Given the description of an element on the screen output the (x, y) to click on. 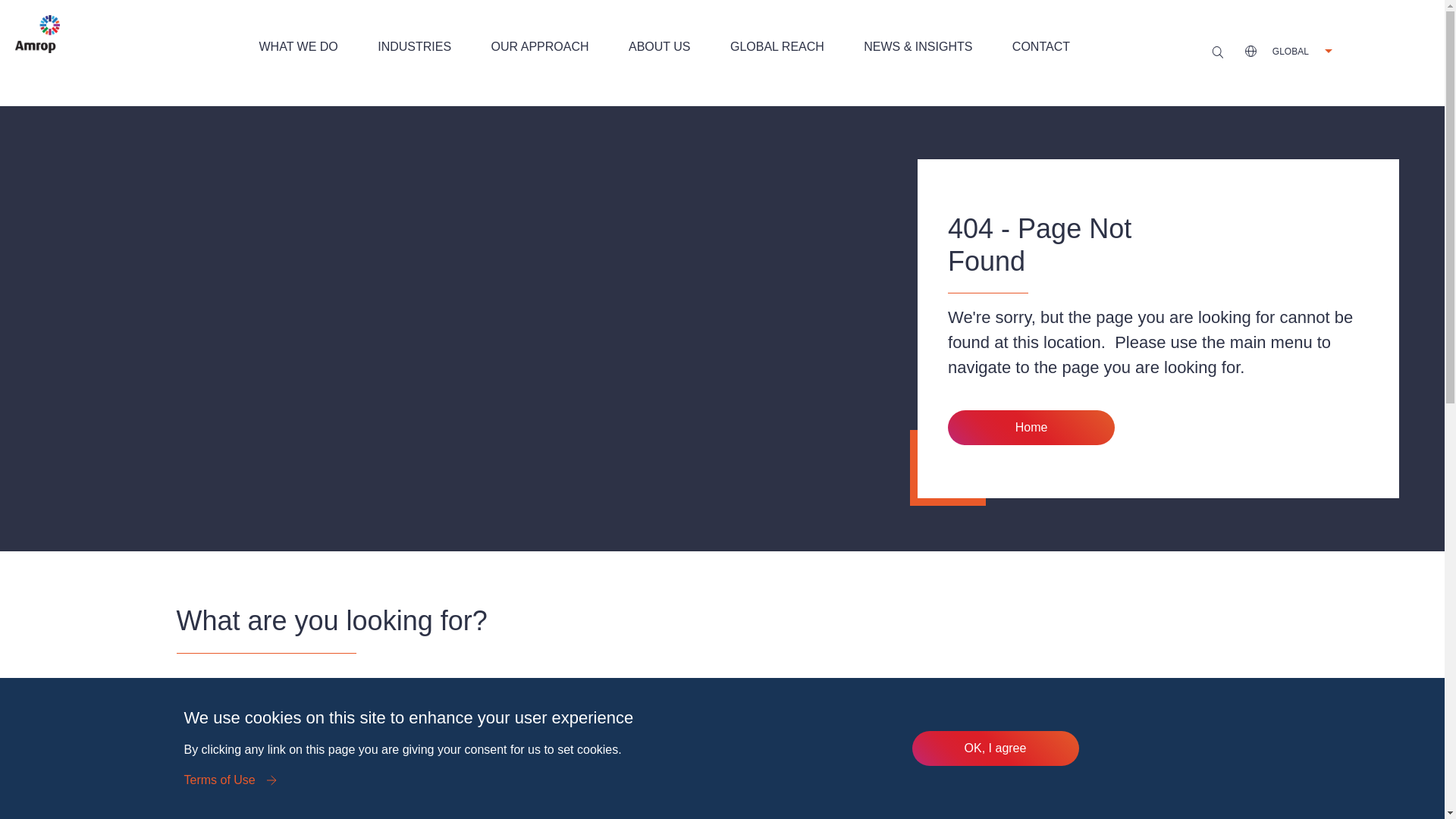
CONTACT (1040, 46)
OUR APPROACH (540, 46)
WHAT WE DO (298, 46)
GLOBAL (1288, 50)
ABOUT US (659, 46)
INDUSTRIES (413, 46)
GLOBAL REACH (777, 46)
